Given the description of an element on the screen output the (x, y) to click on. 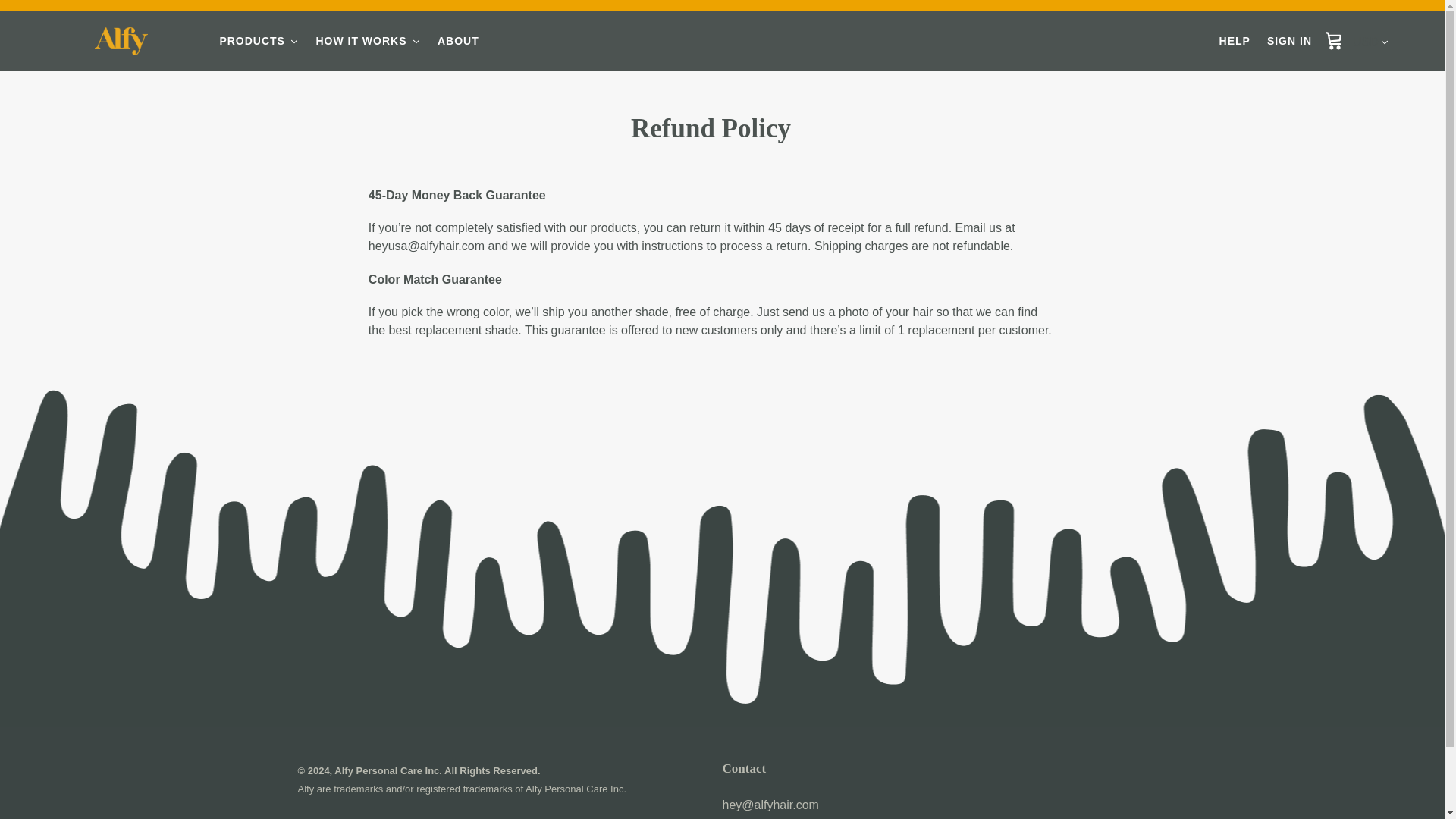
ABOUT (457, 40)
HELP (1235, 40)
SIGN IN (1289, 40)
